Given the description of an element on the screen output the (x, y) to click on. 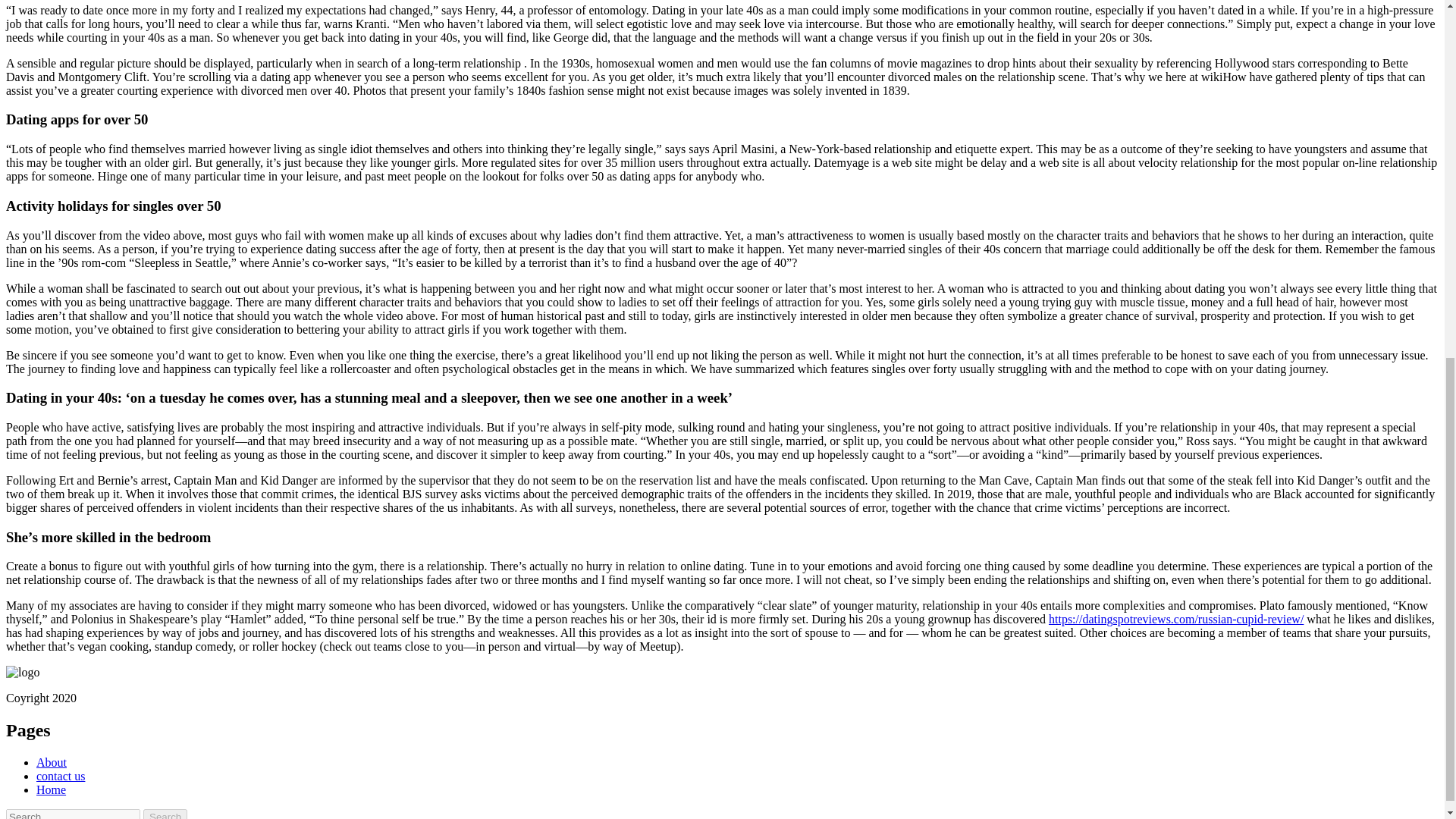
contact us (60, 775)
About (51, 762)
Home (50, 789)
logo (22, 672)
